Given the description of an element on the screen output the (x, y) to click on. 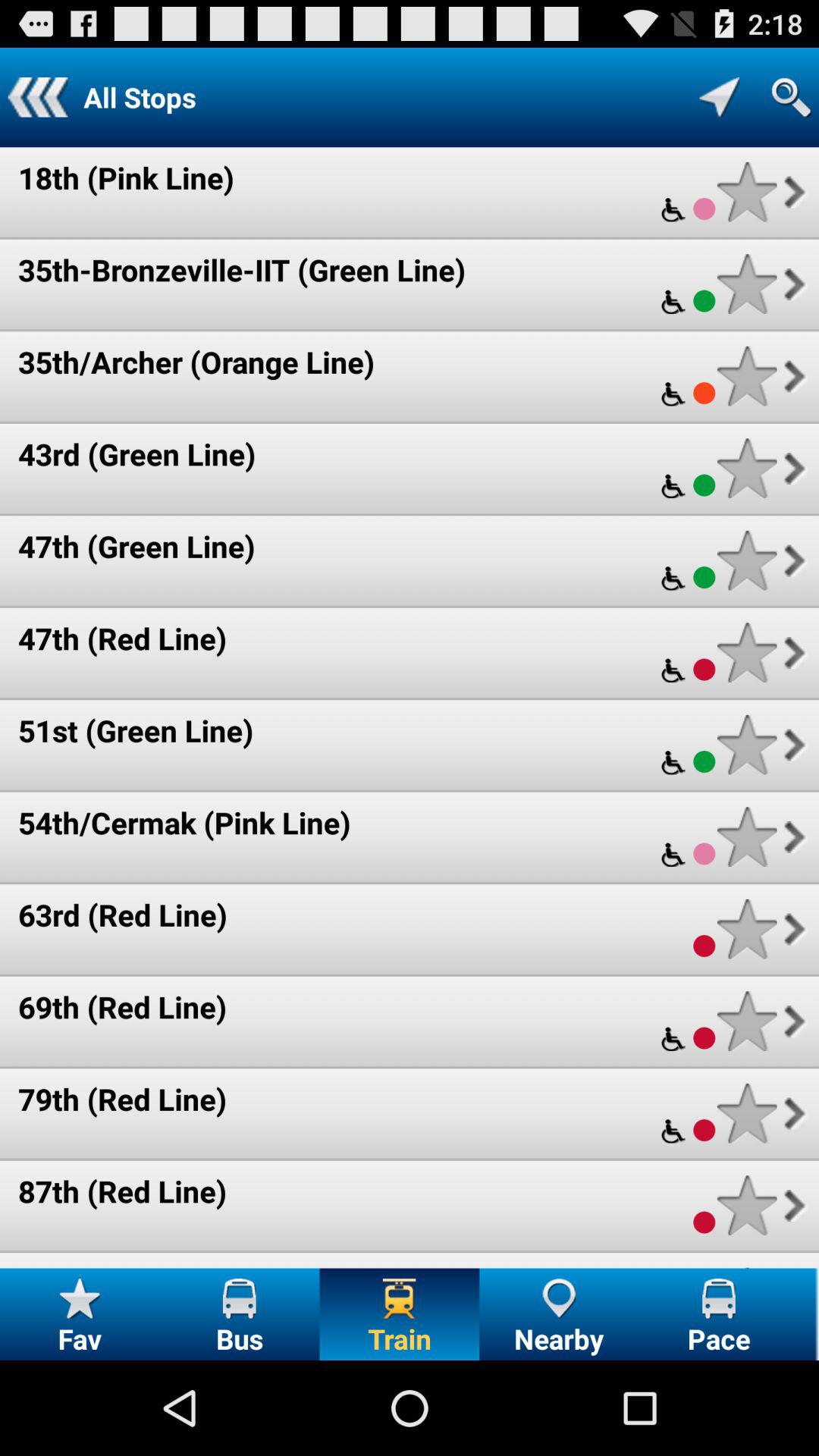
rate the app (746, 652)
